Given the description of an element on the screen output the (x, y) to click on. 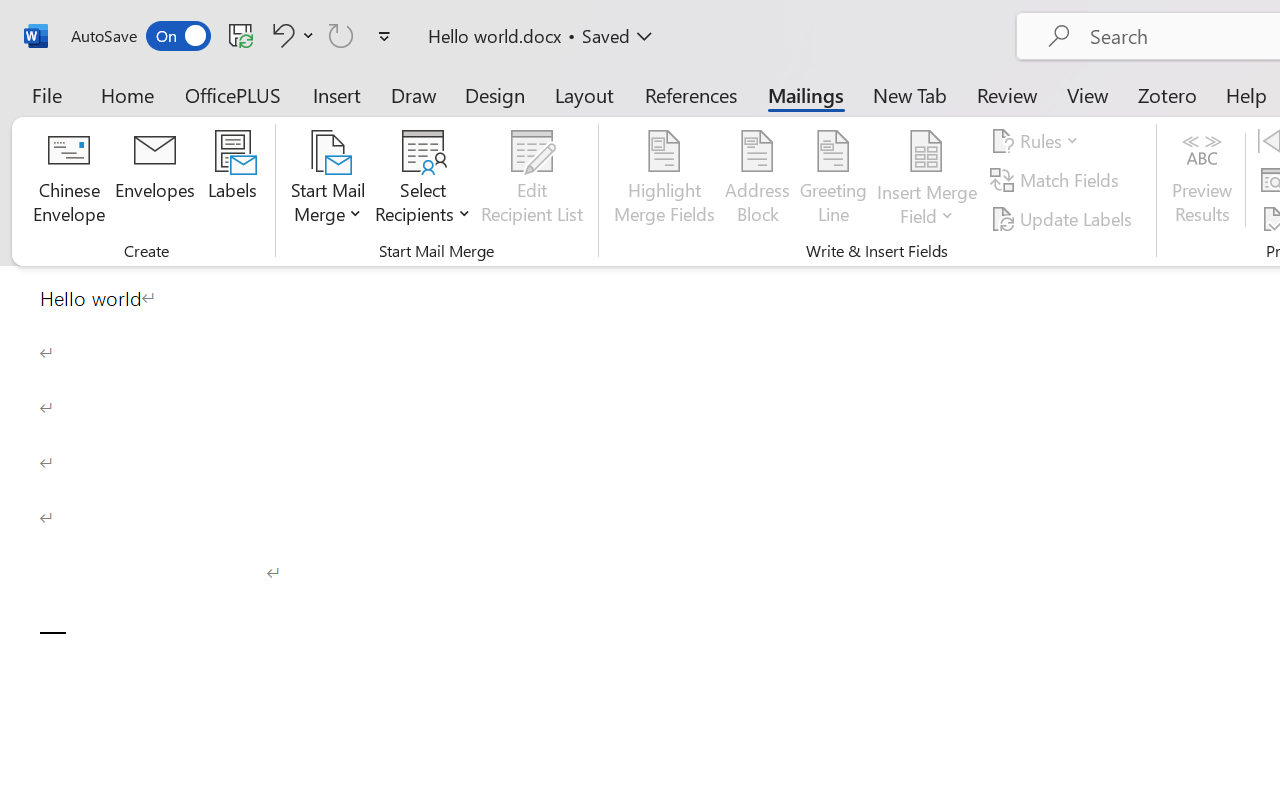
View (1087, 94)
Greeting Line... (833, 179)
Chinese Envelope... (68, 179)
Save (241, 35)
Preview Results (1202, 179)
Layout (584, 94)
OfficePLUS (233, 94)
Select Recipients (423, 179)
Address Block... (757, 179)
AutoSave (140, 35)
Mailings (806, 94)
Undo Paragraph Formatting (290, 35)
More Options (927, 208)
